Given the description of an element on the screen output the (x, y) to click on. 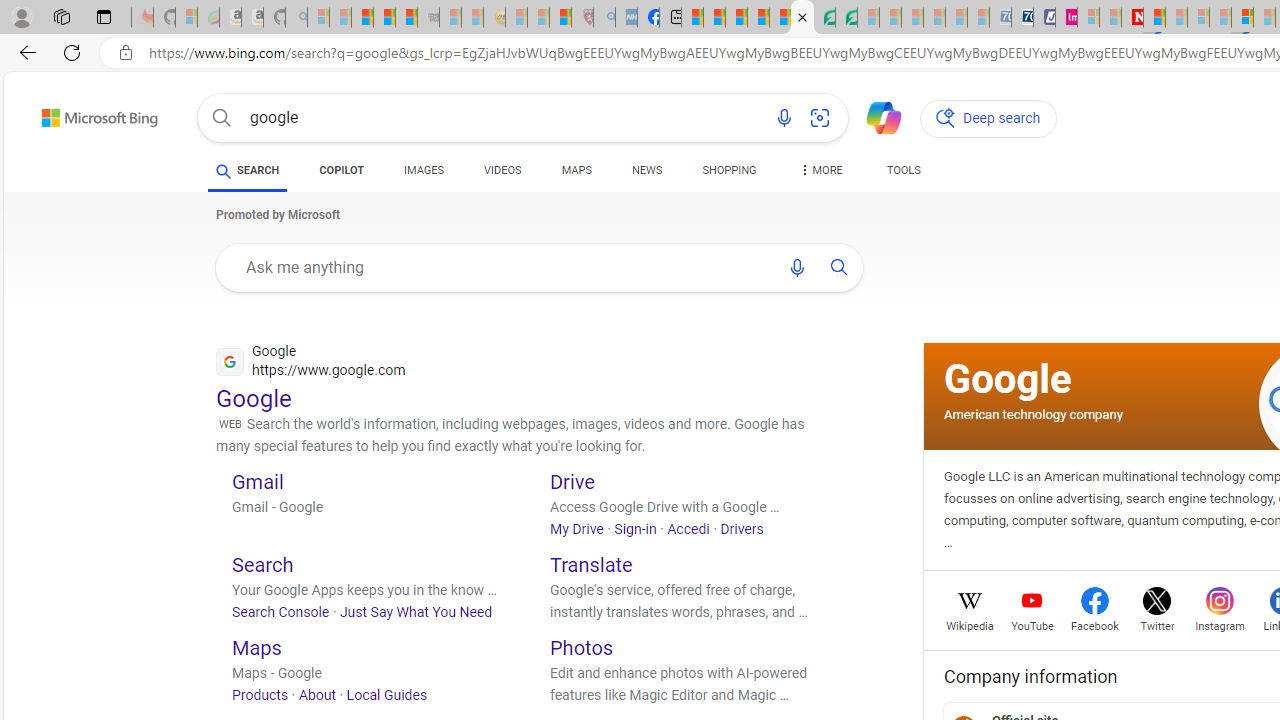
Local Guides (386, 695)
SEARCH (247, 170)
TOOLS (903, 173)
MORE (819, 173)
Search using an image (820, 117)
Microsoft Word - consumer-privacy address update 2.2021 (846, 17)
MAPS (576, 170)
Twitter (1156, 624)
Gmail (257, 480)
Instagram (1219, 624)
